Given the description of an element on the screen output the (x, y) to click on. 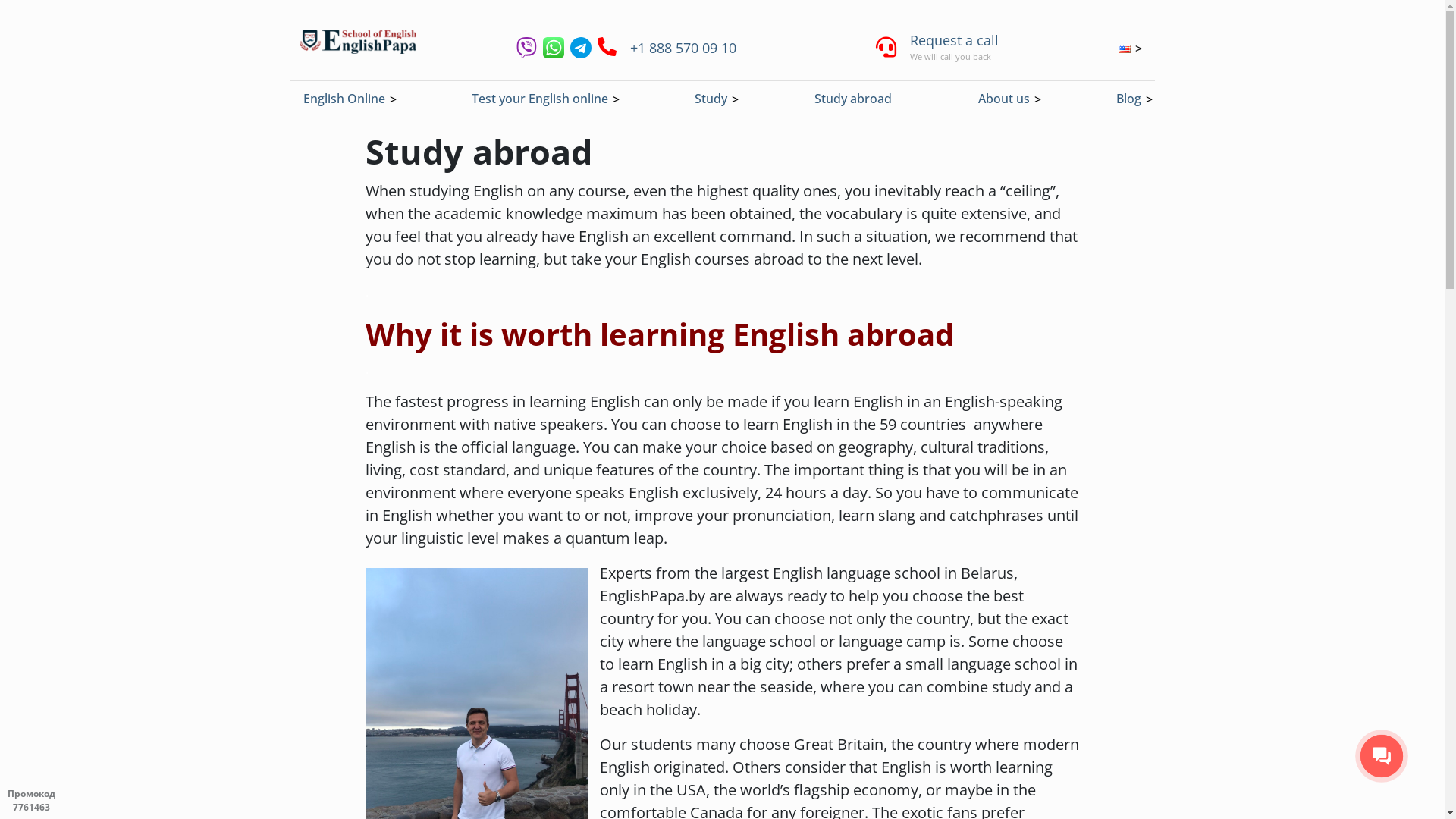
Study abroad Element type: text (852, 98)
About us Element type: text (1003, 98)
Blog Element type: text (1128, 98)
+1 888 570 09 10 Element type: text (682, 46)
Test your English online Element type: text (539, 98)
Request a call Element type: text (954, 40)
English Online Element type: text (344, 98)
Study Element type: text (710, 98)
